Given the description of an element on the screen output the (x, y) to click on. 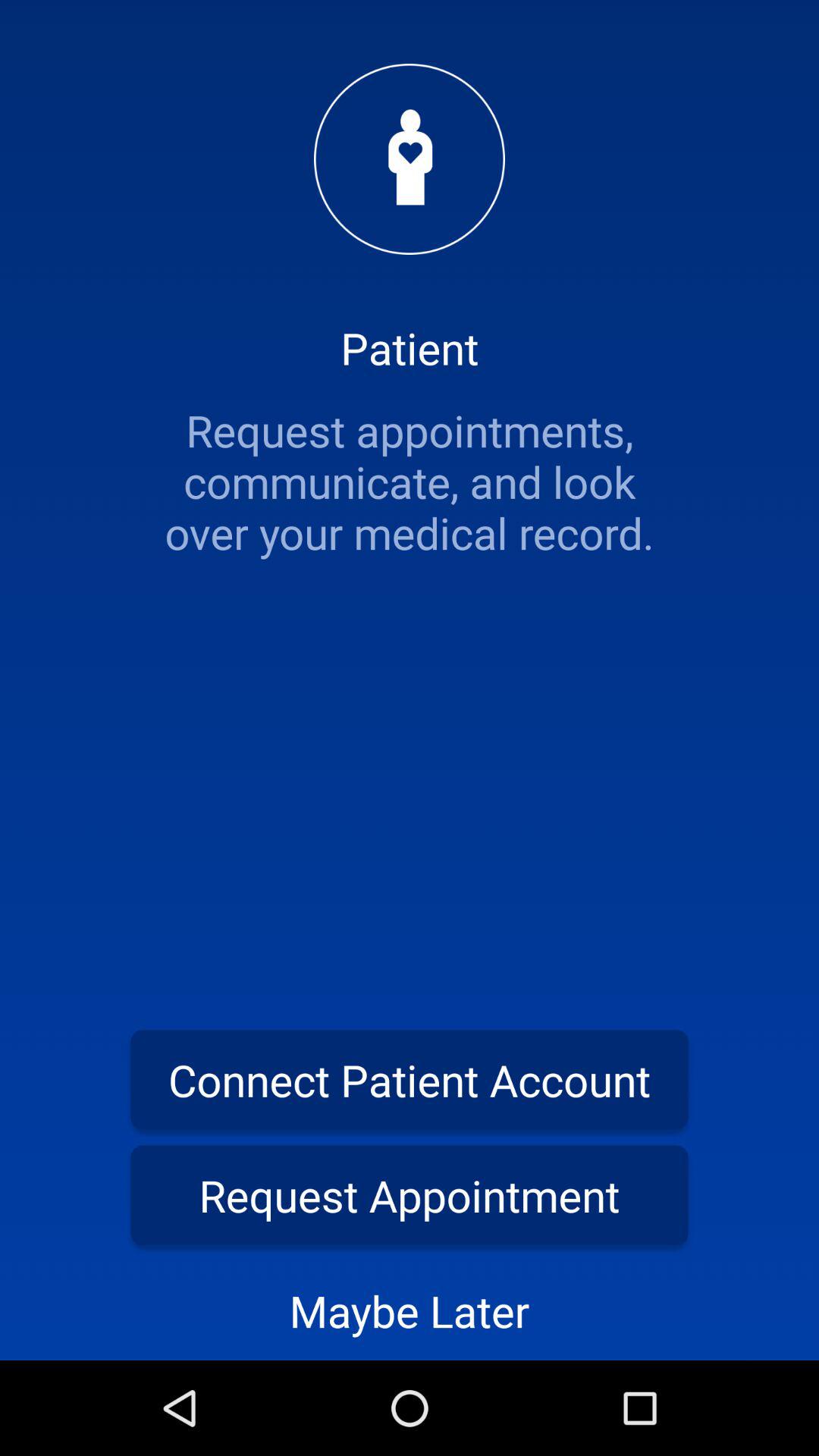
click the icon below request appointments communicate item (409, 1079)
